Given the description of an element on the screen output the (x, y) to click on. 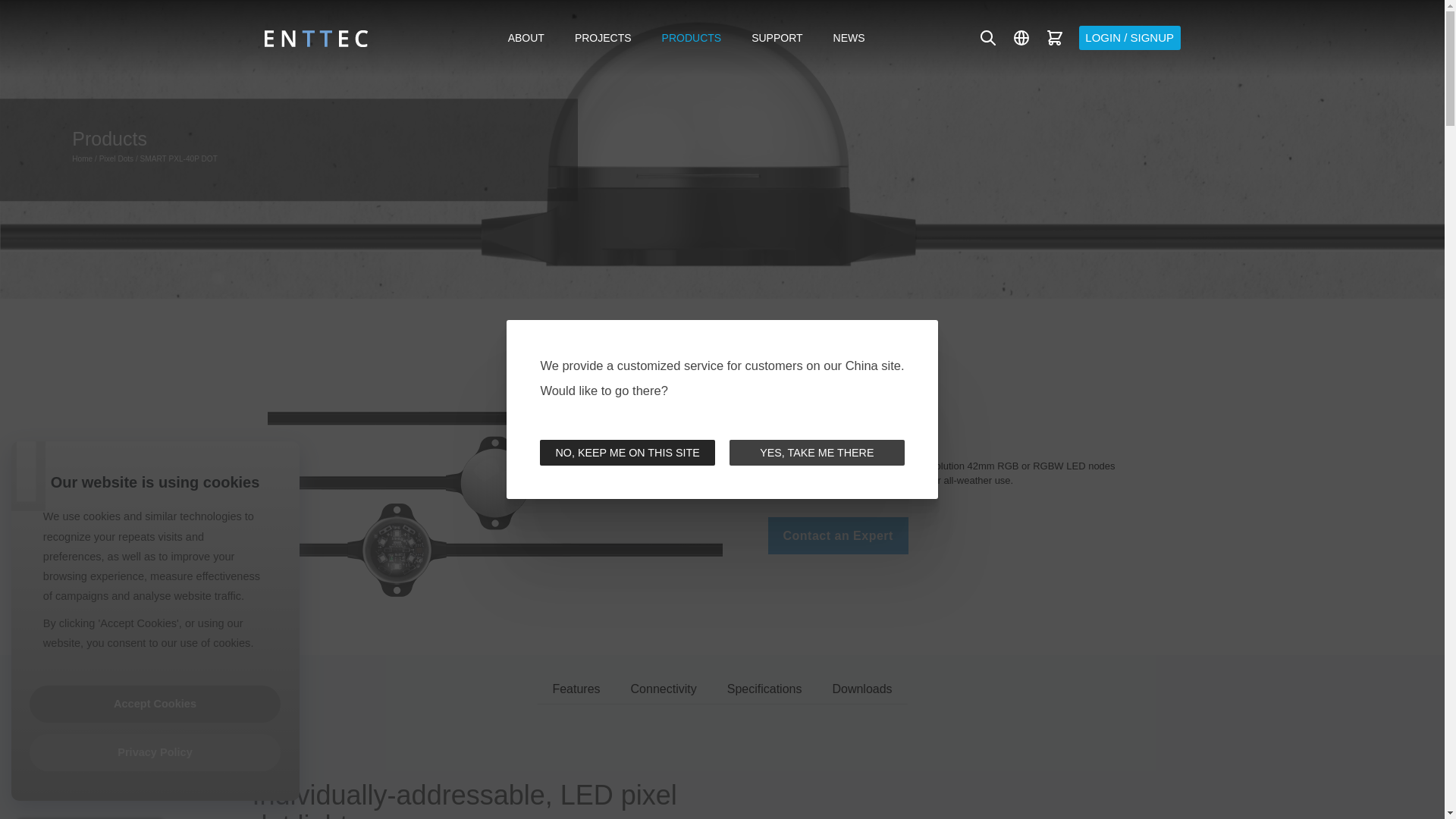
PROJECTS (602, 37)
ABOUT (526, 37)
View your shopping cart (1054, 37)
PRODUCTS (691, 37)
